Given the description of an element on the screen output the (x, y) to click on. 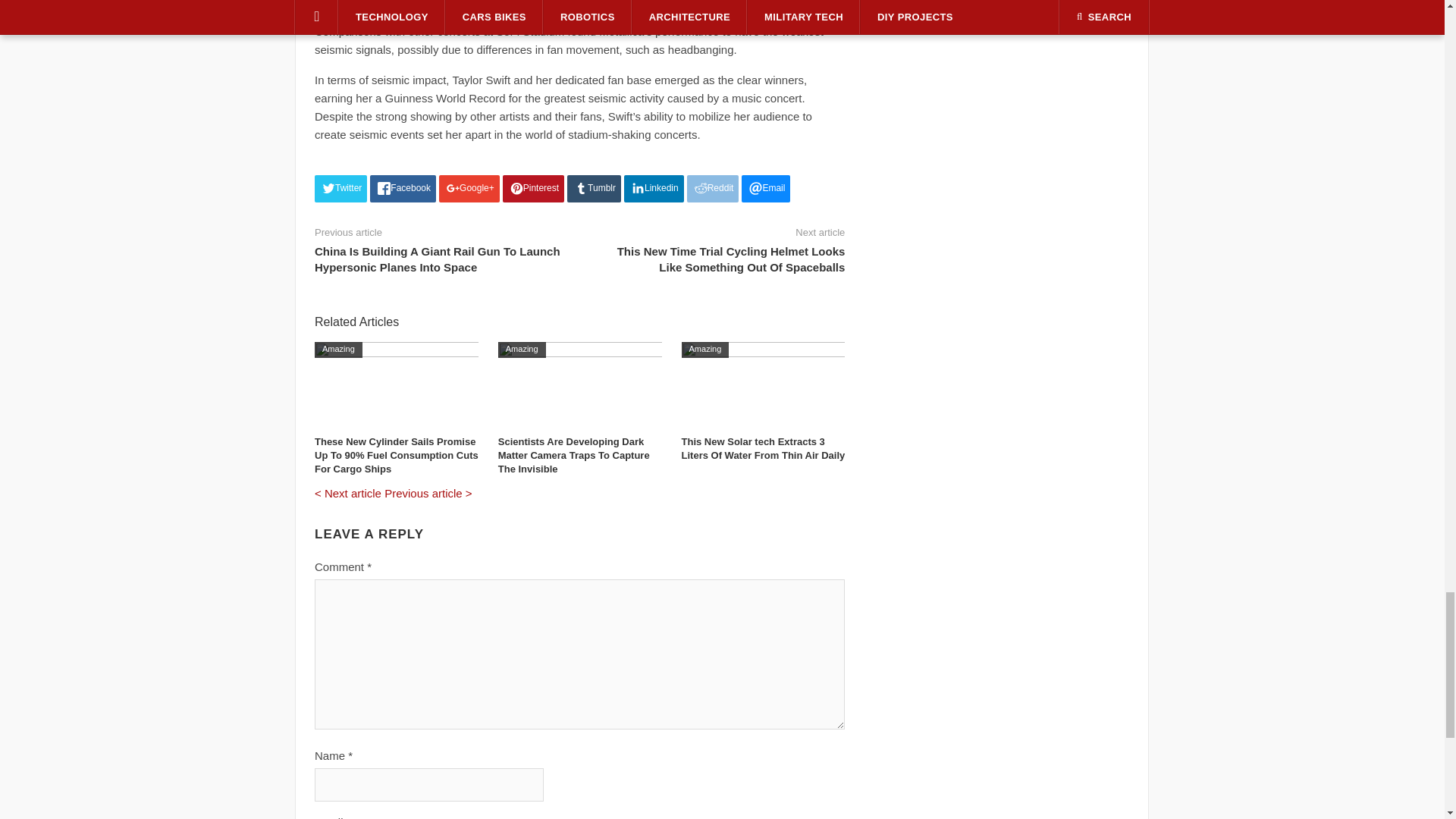
Pinterest (533, 188)
Tumblr (594, 188)
Twitter (340, 188)
Facebook (402, 188)
Email (765, 188)
Reddit (713, 188)
